Given the description of an element on the screen output the (x, y) to click on. 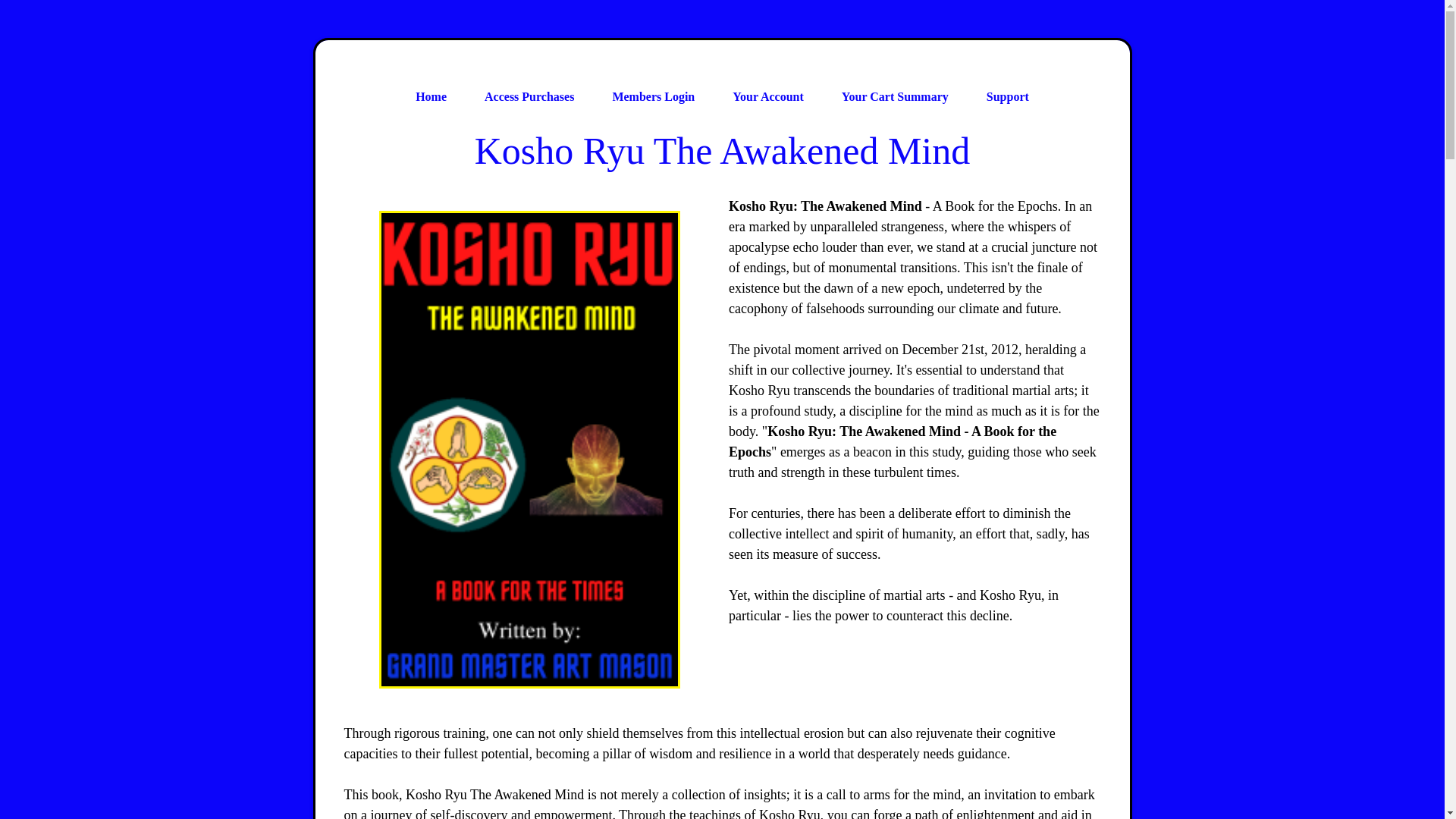
Home (430, 96)
Your Account (767, 96)
Support (1008, 96)
Access Purchases (528, 96)
Your Cart Summary (895, 96)
teachings of Kosho Ryu (754, 813)
Members Login (652, 96)
